Given the description of an element on the screen output the (x, y) to click on. 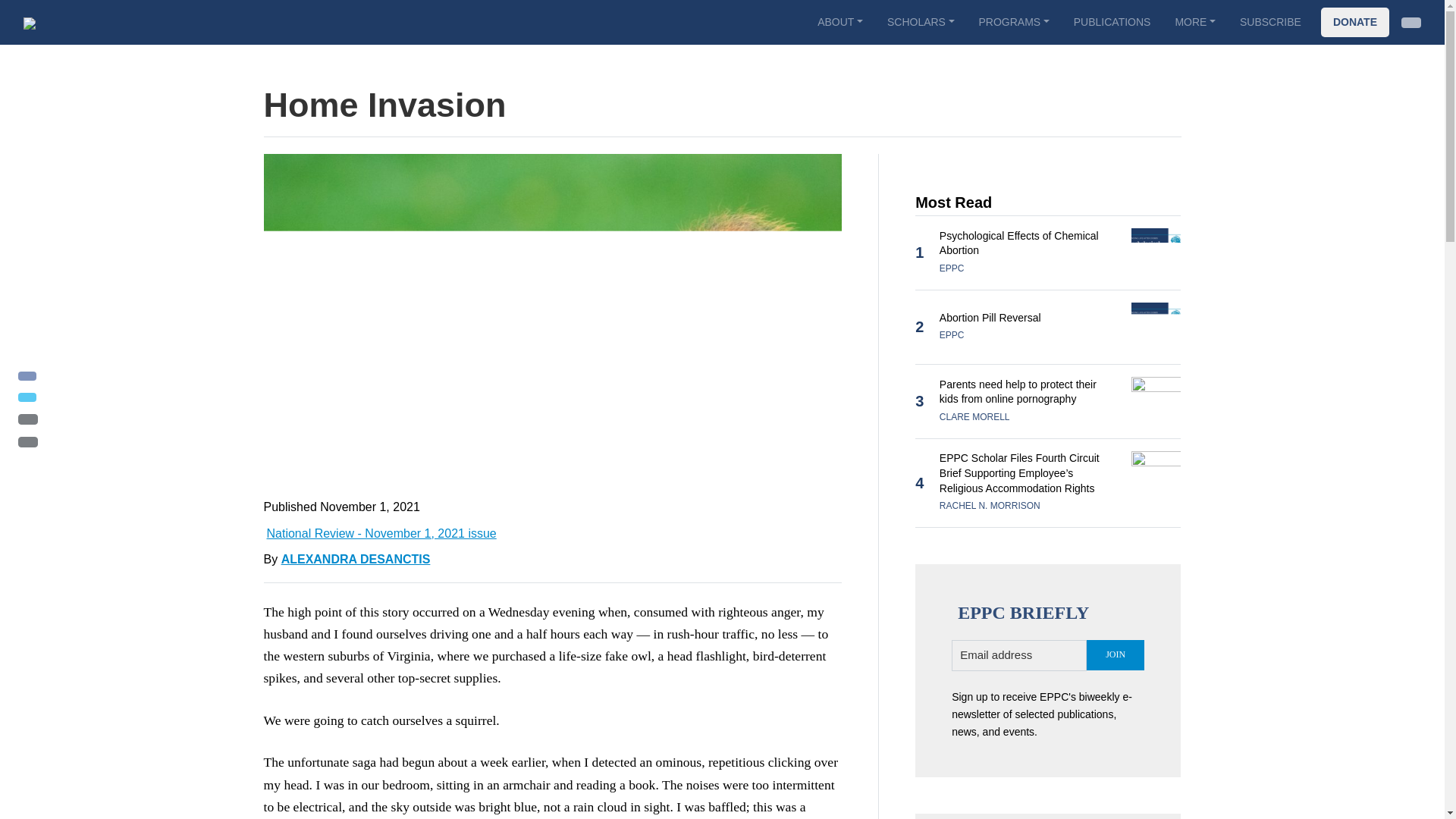
JOIN (1115, 654)
ABOUT (840, 21)
SCHOLARS (920, 21)
